Given the description of an element on the screen output the (x, y) to click on. 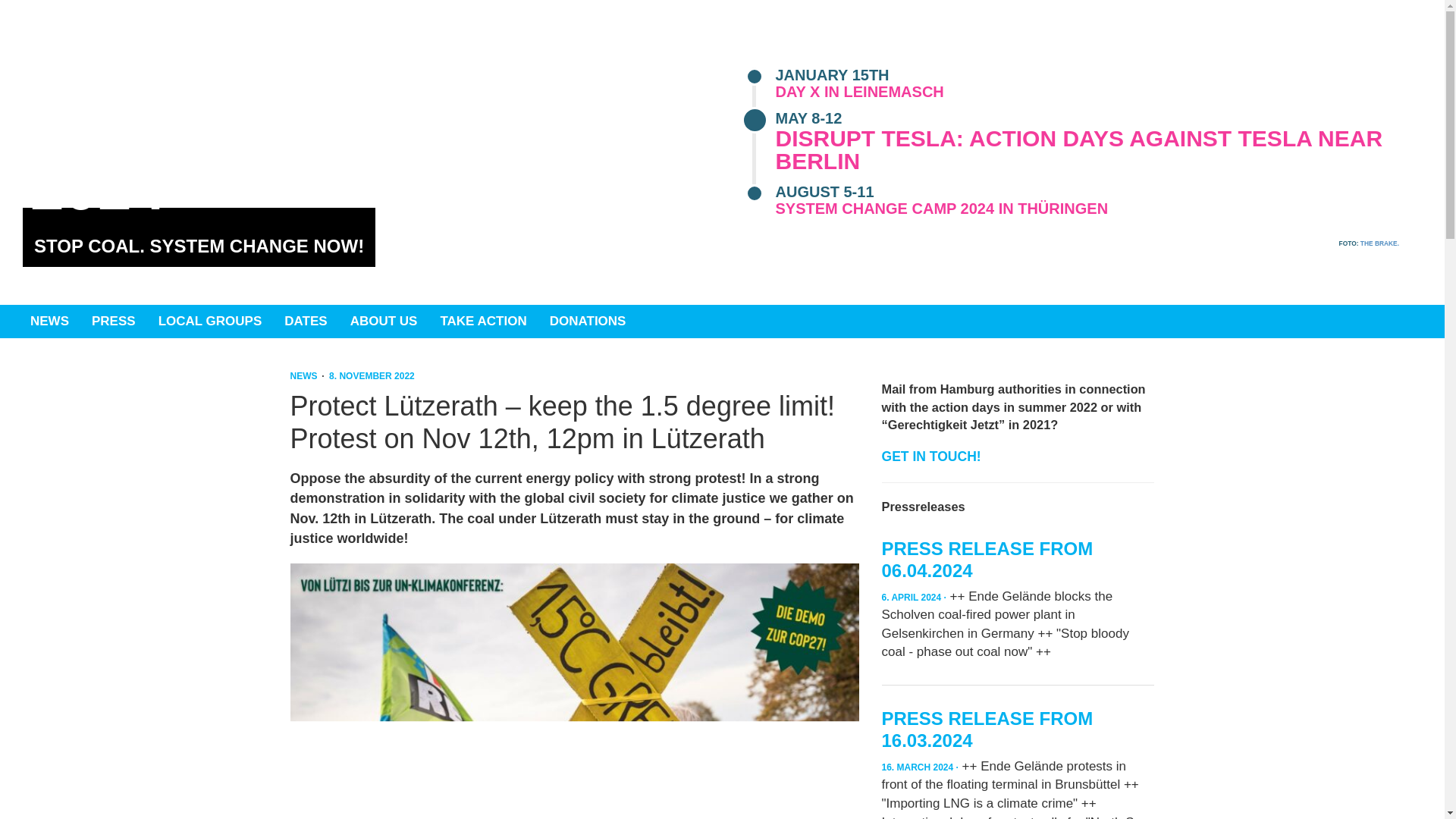
PRESS (113, 321)
ENGLISH (970, 32)
DATES (305, 321)
THE BRAKE. (1379, 243)
DEUTSCH (913, 32)
DISRUPT TESLA: ACTION DAYS AGAINST TESLA NEAR BERLIN (1077, 149)
DAY X IN LEINEMASCH (858, 91)
NEWS (49, 321)
LOCAL GROUPS (210, 321)
ABOUT US (384, 321)
